Given the description of an element on the screen output the (x, y) to click on. 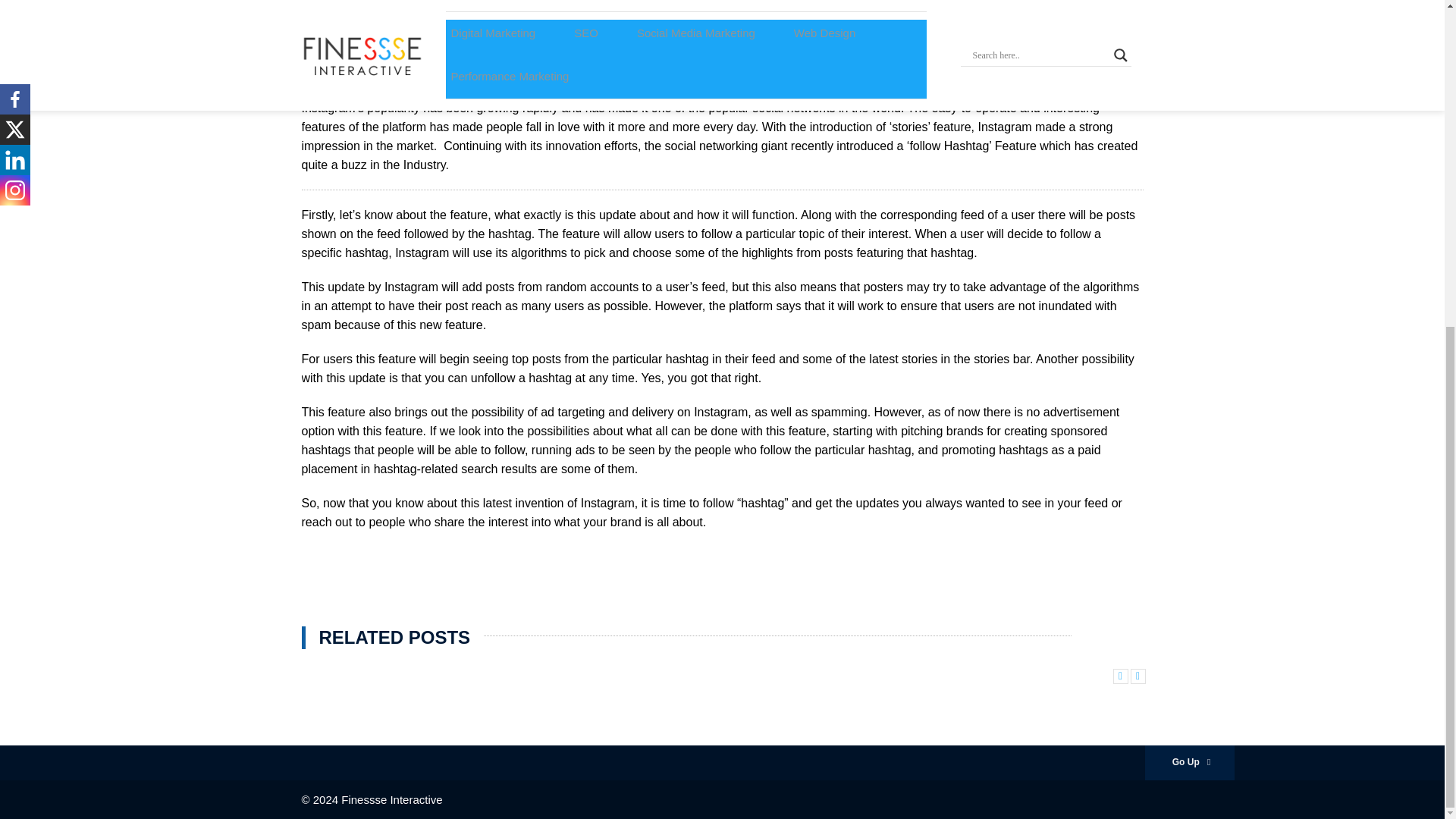
Posts by Admin (365, 65)
Digital Marketing (345, 45)
Admin (365, 65)
